Given the description of an element on the screen output the (x, y) to click on. 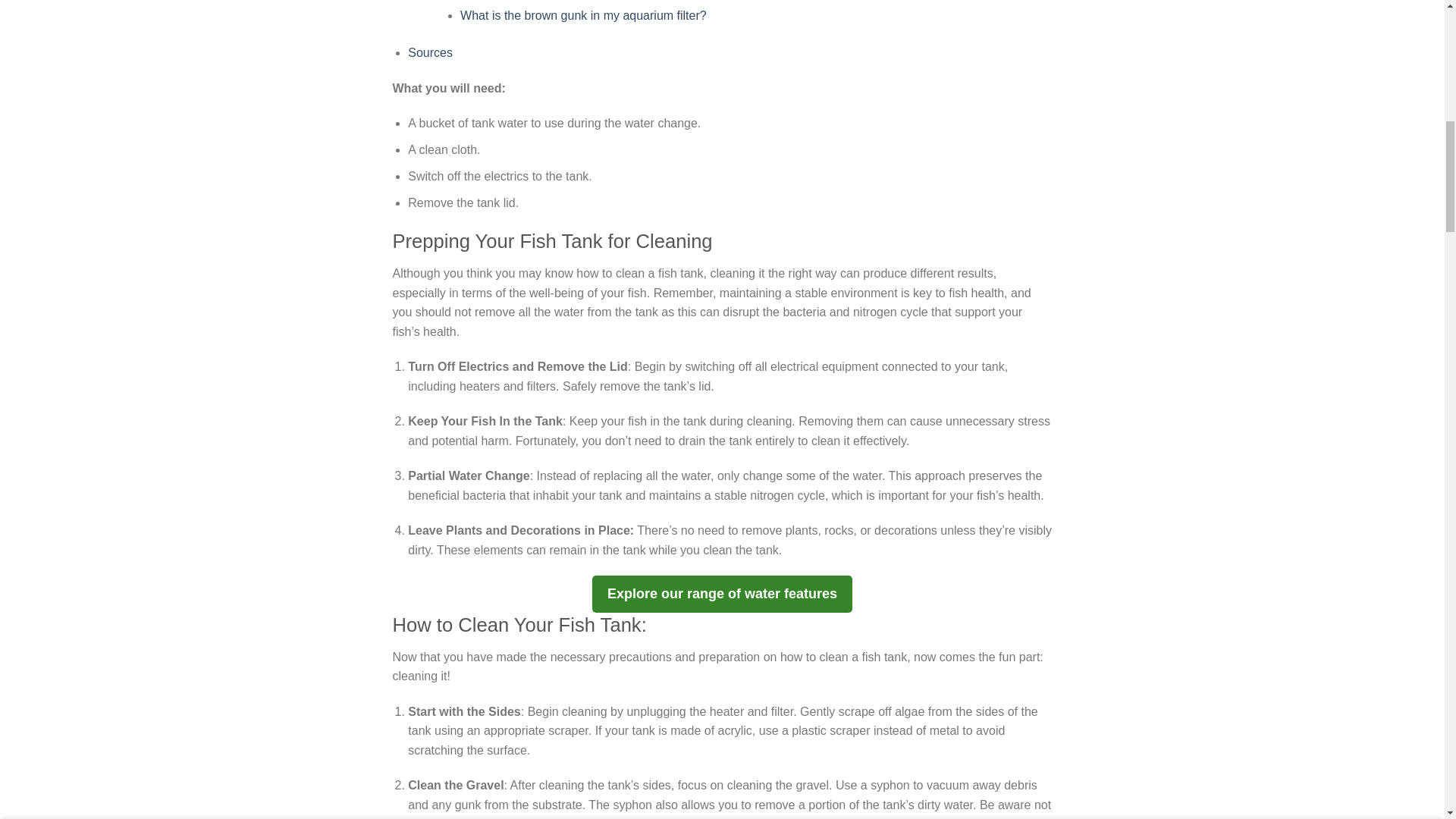
Sources (429, 51)
Explore our range of water features (721, 593)
What is the brown gunk in my aquarium filter? (583, 15)
